Given the description of an element on the screen output the (x, y) to click on. 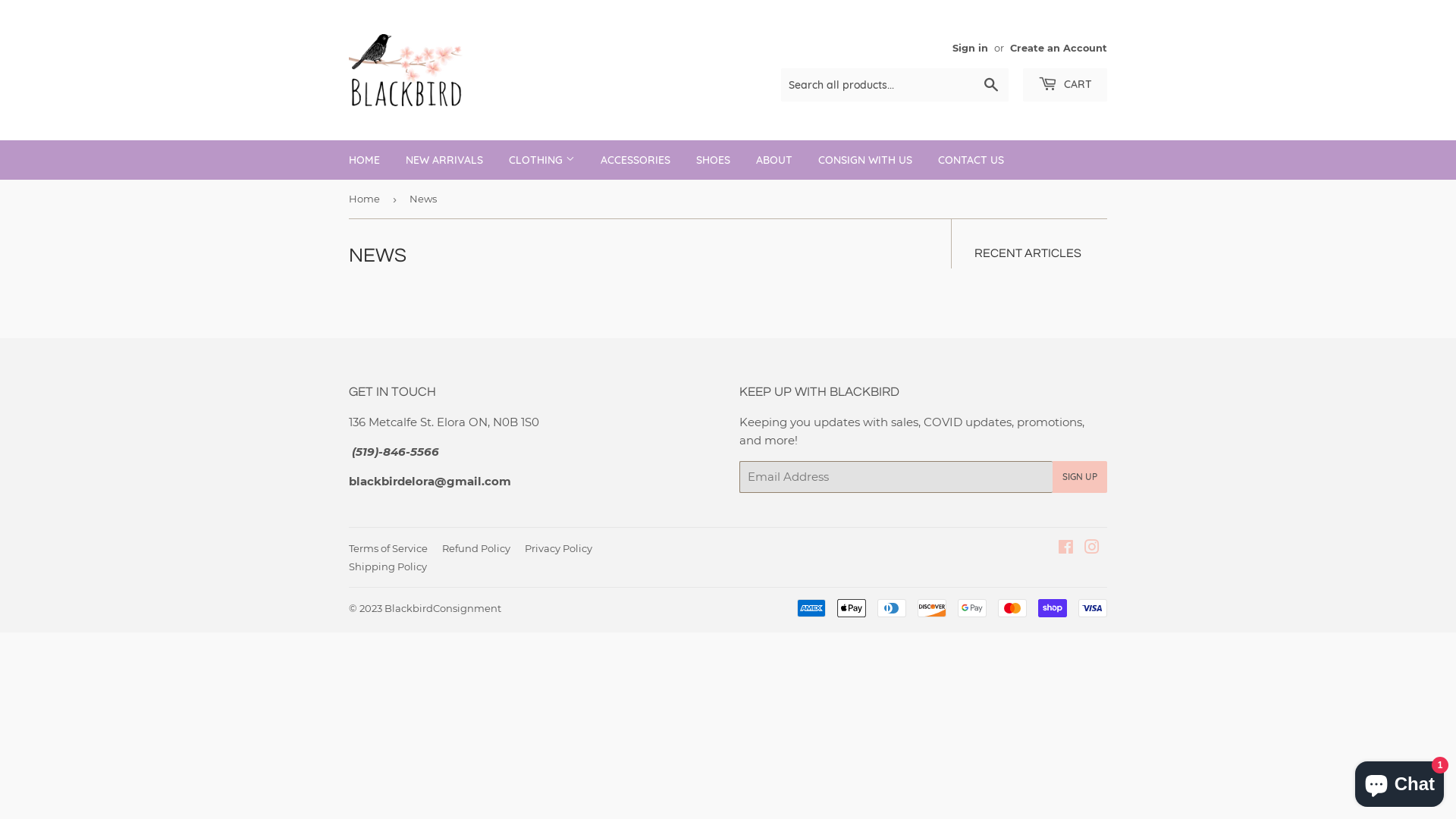
CLOTHING Element type: text (541, 159)
SHOES Element type: text (712, 159)
HOME Element type: text (364, 159)
Terms of Service Element type: text (387, 547)
blackbirdelora@gmail.com Element type: text (429, 480)
CART Element type: text (1064, 84)
Facebook Element type: text (1065, 548)
Search Element type: text (991, 85)
Shopify online store chat Element type: hover (1399, 780)
Shipping Policy Element type: text (387, 565)
CONTACT US Element type: text (970, 159)
Sign in Element type: text (970, 47)
Home Element type: text (366, 198)
ACCESSORIES Element type: text (635, 159)
Instagram Element type: text (1091, 548)
NEW ARRIVALS Element type: text (444, 159)
CONSIGN WITH US Element type: text (864, 159)
BlackbirdConsignment Element type: text (442, 608)
ABOUT Element type: text (773, 159)
Privacy Policy Element type: text (558, 547)
SIGN UP Element type: text (1079, 476)
Refund Policy Element type: text (476, 547)
Create an Account Element type: text (1058, 47)
